Given the description of an element on the screen output the (x, y) to click on. 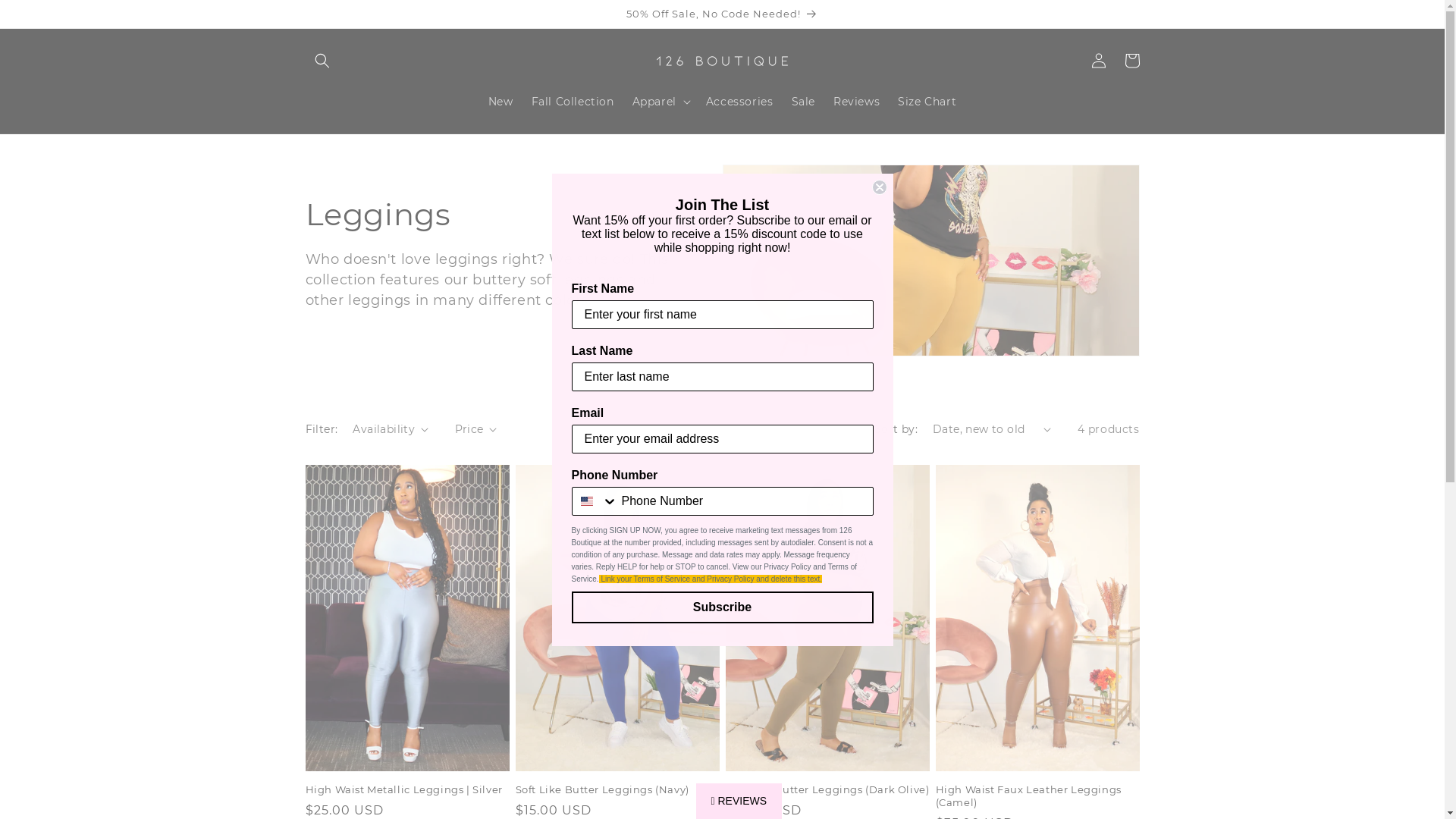
High Waist Faux Leather Leggings (Camel) Element type: text (1037, 796)
Subscribe Element type: text (722, 607)
Sale Element type: text (803, 101)
Accessories Element type: text (739, 101)
Soft Like Butter Leggings (Navy) Element type: text (617, 789)
Log in Element type: text (1097, 60)
New Element type: text (500, 101)
Soft Like Butter Leggings (Dark Olive) Element type: text (826, 789)
Size Chart Element type: text (926, 101)
50% Off Sale, No Code Needed! Element type: text (722, 14)
Fall Collection Element type: text (572, 101)
Submit Element type: text (21, 7)
Reviews Element type: text (856, 101)
High Waist Metallic Leggings | Silver Element type: text (406, 789)
United States Element type: hover (586, 500)
Cart Element type: text (1131, 60)
Close dialog 1 Element type: text (879, 186)
